Given the description of an element on the screen output the (x, y) to click on. 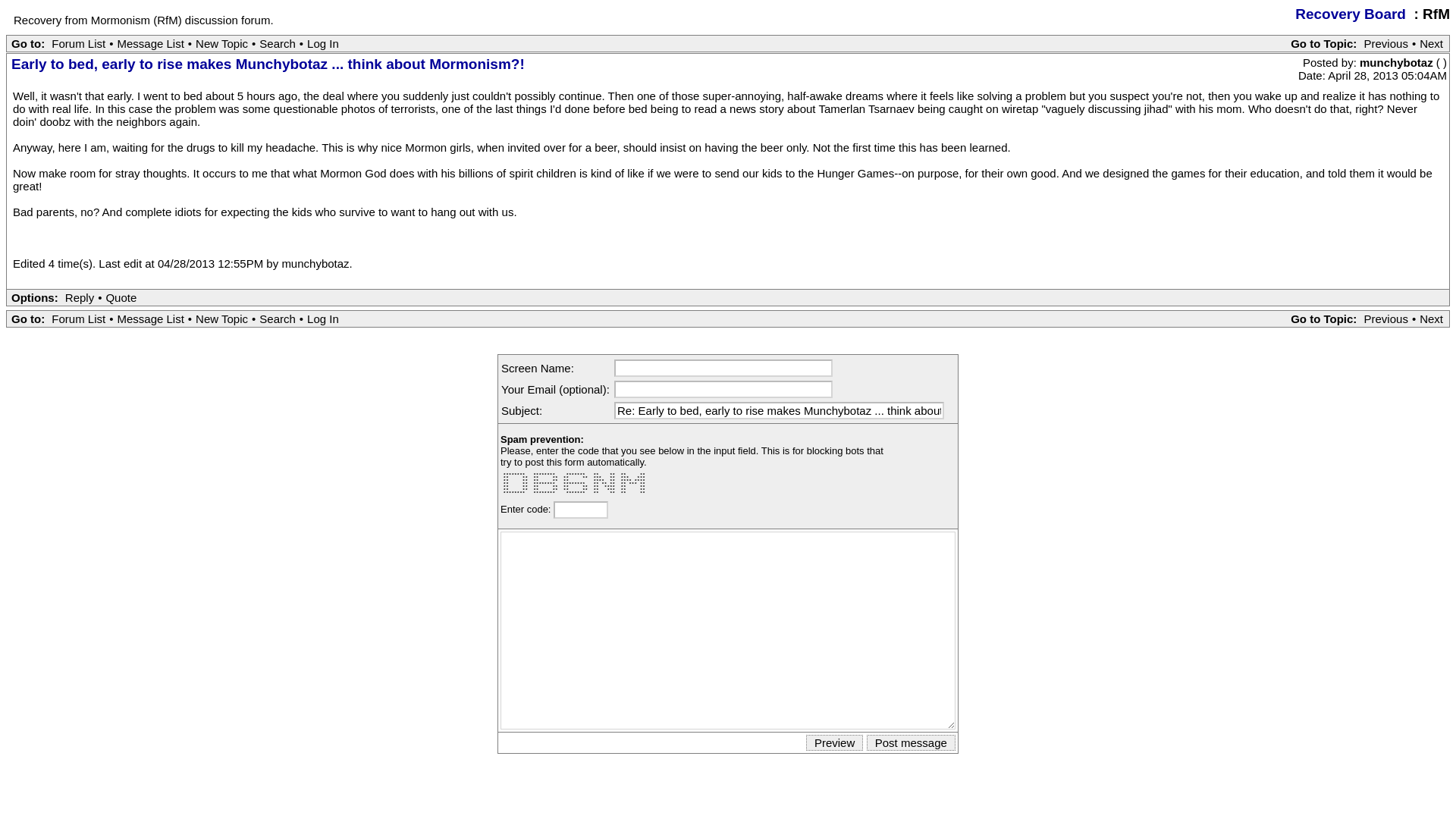
Reply (79, 297)
Message List (150, 318)
Recovery Board (1350, 13)
Log In (322, 43)
Forum List (78, 318)
Log In (322, 318)
Forum List (78, 43)
Previous (1385, 43)
Search (277, 318)
Message List (150, 43)
Search (277, 43)
New Topic (221, 43)
Quote (120, 297)
Previous (1385, 318)
New Topic (221, 318)
